Given the description of an element on the screen output the (x, y) to click on. 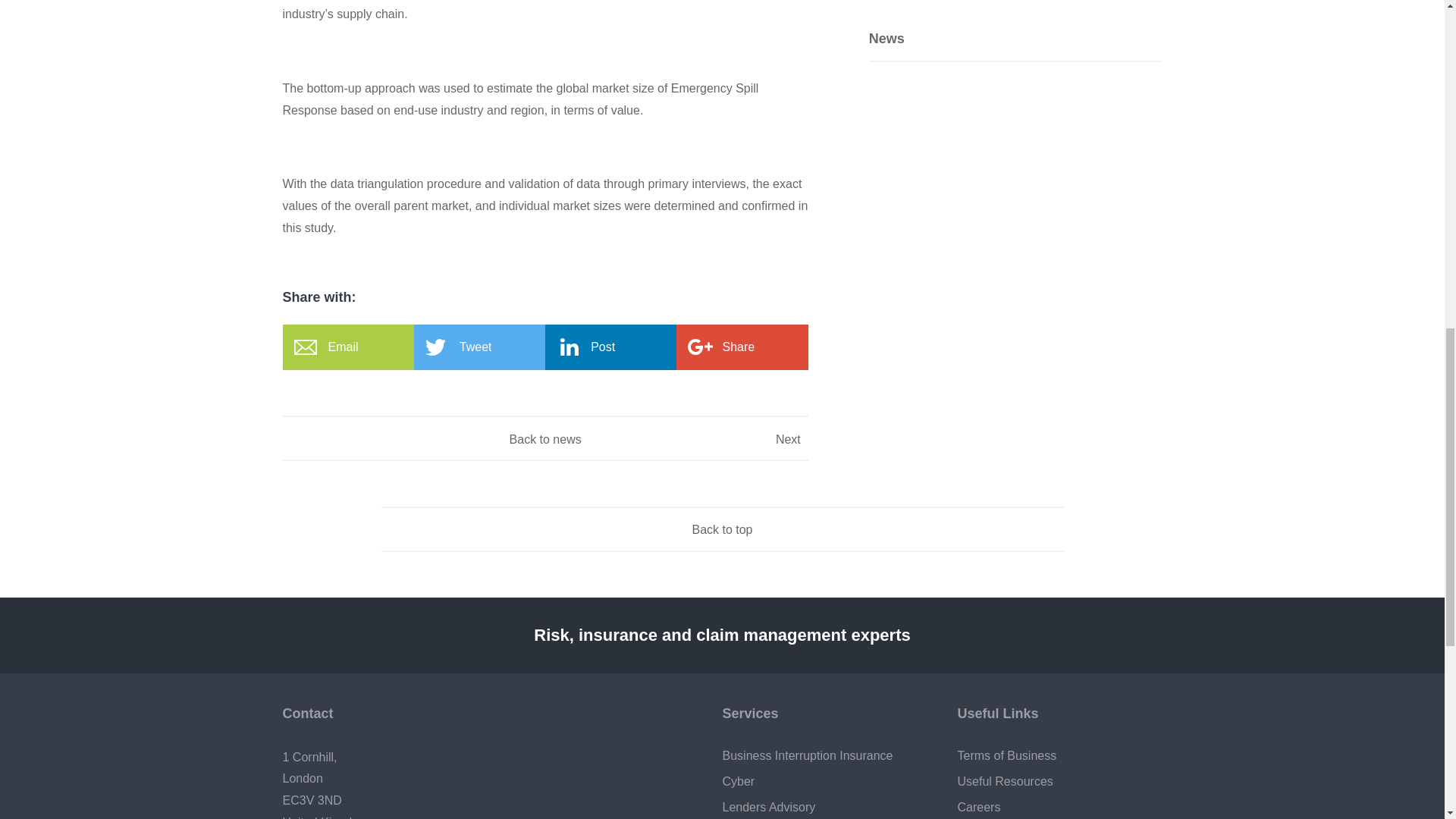
Useful Resources (1058, 782)
Lenders Advisory (824, 807)
Email to friend (347, 347)
Business Interruption Insurance (824, 755)
Back to news (545, 437)
Cyber (824, 782)
Back to top (721, 529)
Back to news (545, 437)
Email (347, 347)
Tweet (478, 347)
